Given the description of an element on the screen output the (x, y) to click on. 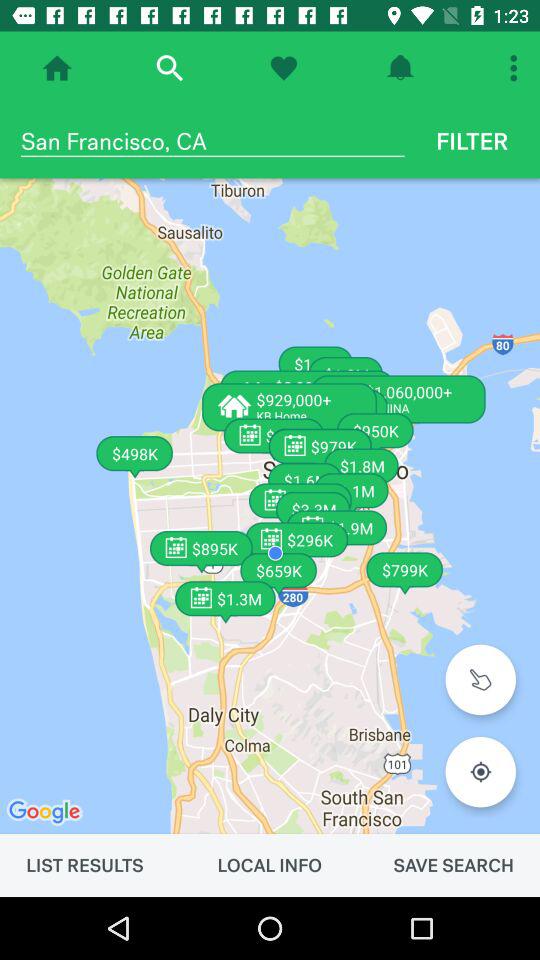
launch item to the left of the local info (84, 865)
